Given the description of an element on the screen output the (x, y) to click on. 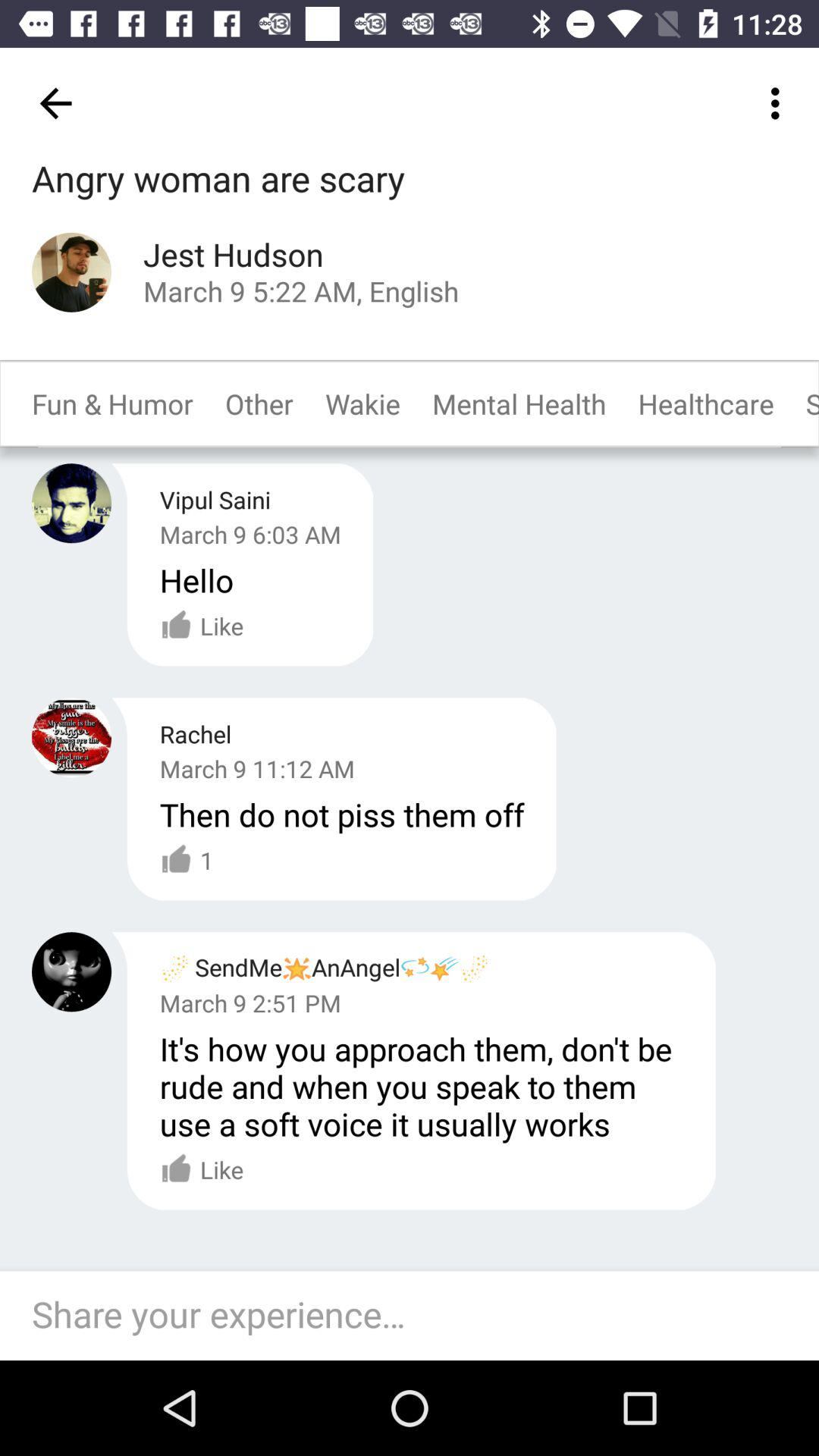
swipe to the hello (196, 579)
